Given the description of an element on the screen output the (x, y) to click on. 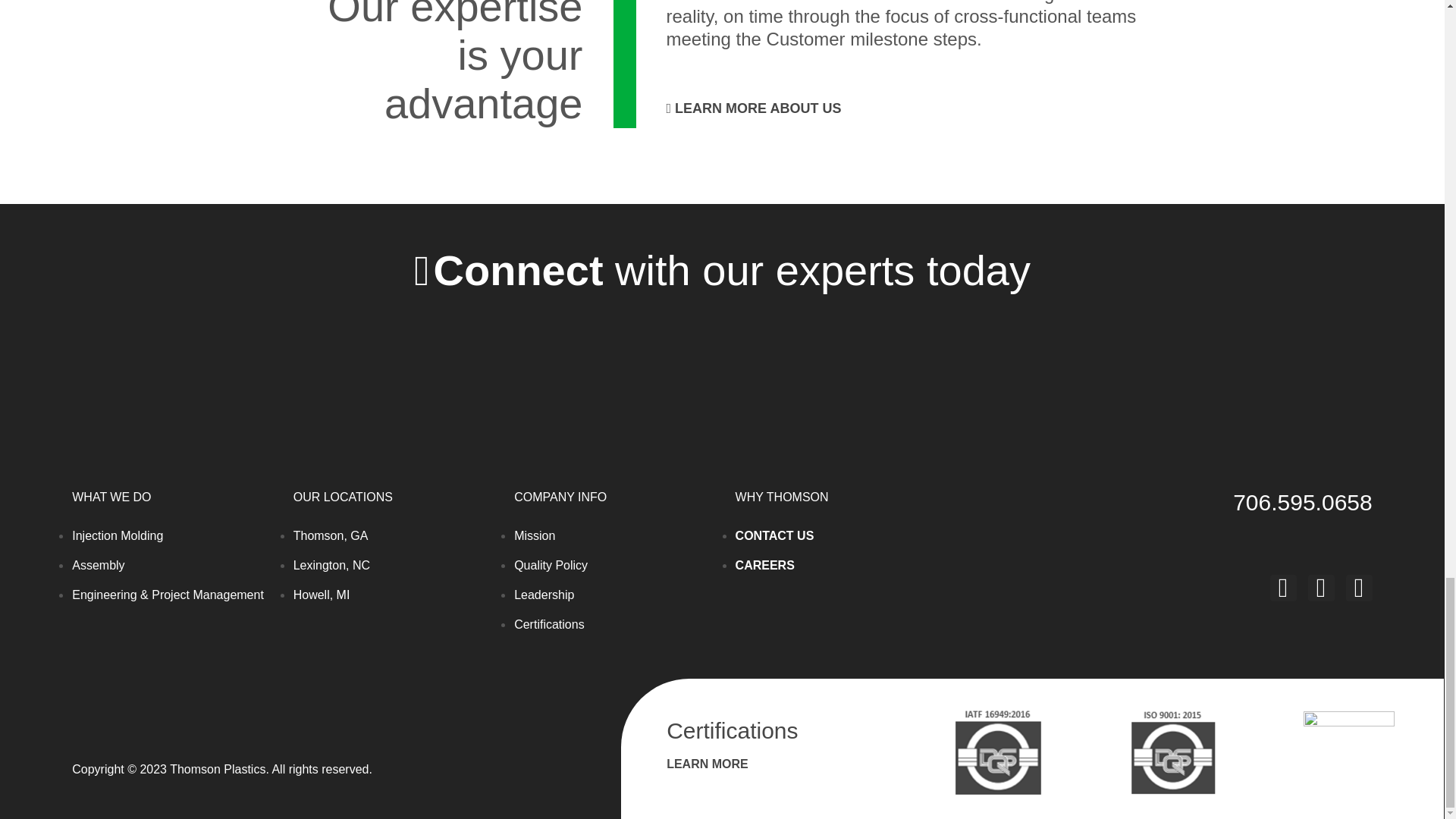
LEARN MORE ABOUT US (753, 108)
Injection Molding (117, 535)
WHAT WE DO (111, 496)
Connect with our experts today (722, 270)
Assembly (97, 564)
